Given the description of an element on the screen output the (x, y) to click on. 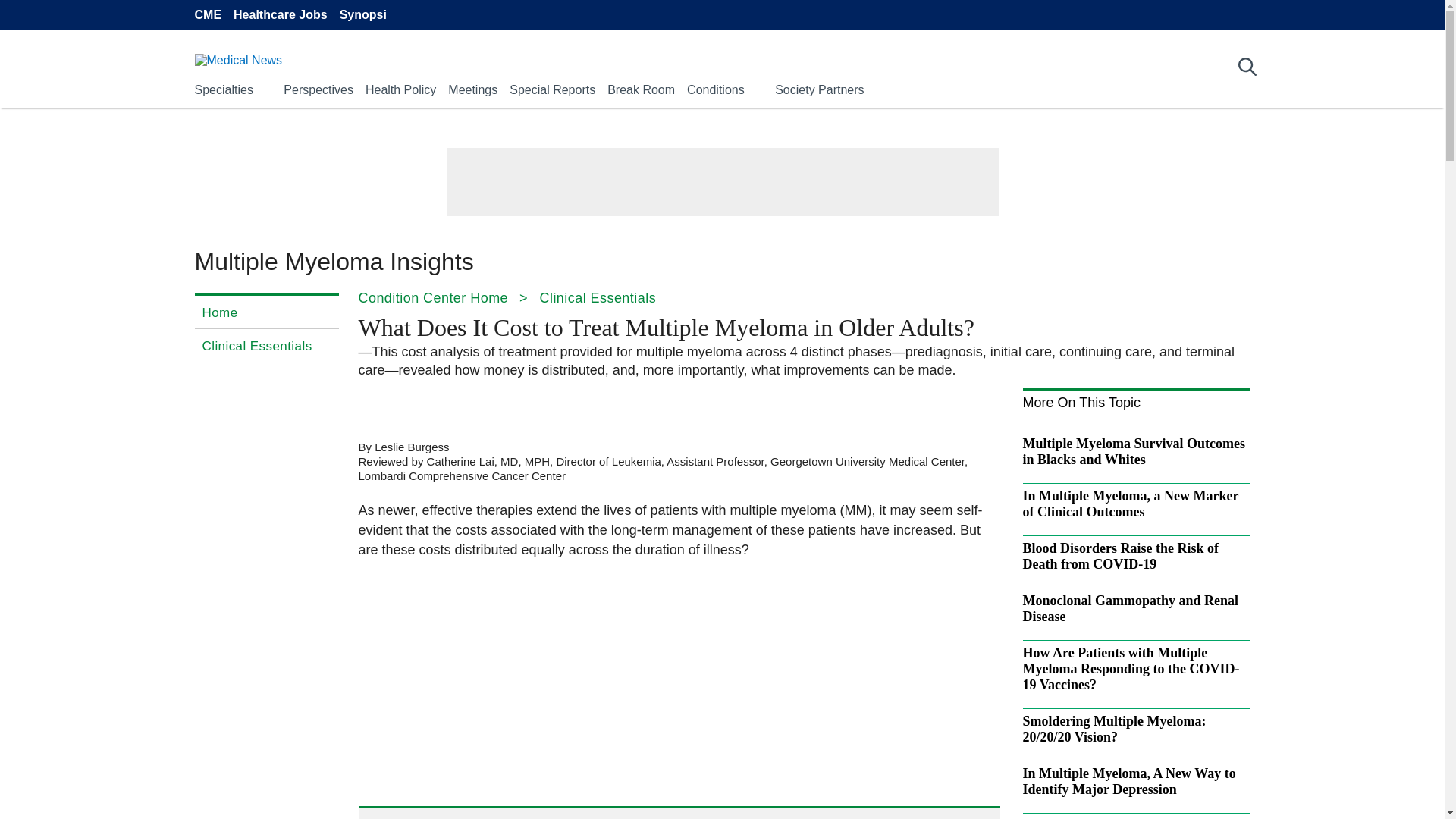
Share on LinkedIn. Opens in a new tab or window (456, 405)
Share on X. Opens in a new tab or window (413, 405)
Specialties (222, 89)
Synopsi (363, 15)
Healthcare Jobs (279, 15)
Share on Facebook. Opens in a new tab or window (369, 405)
CME (207, 15)
